Given the description of an element on the screen output the (x, y) to click on. 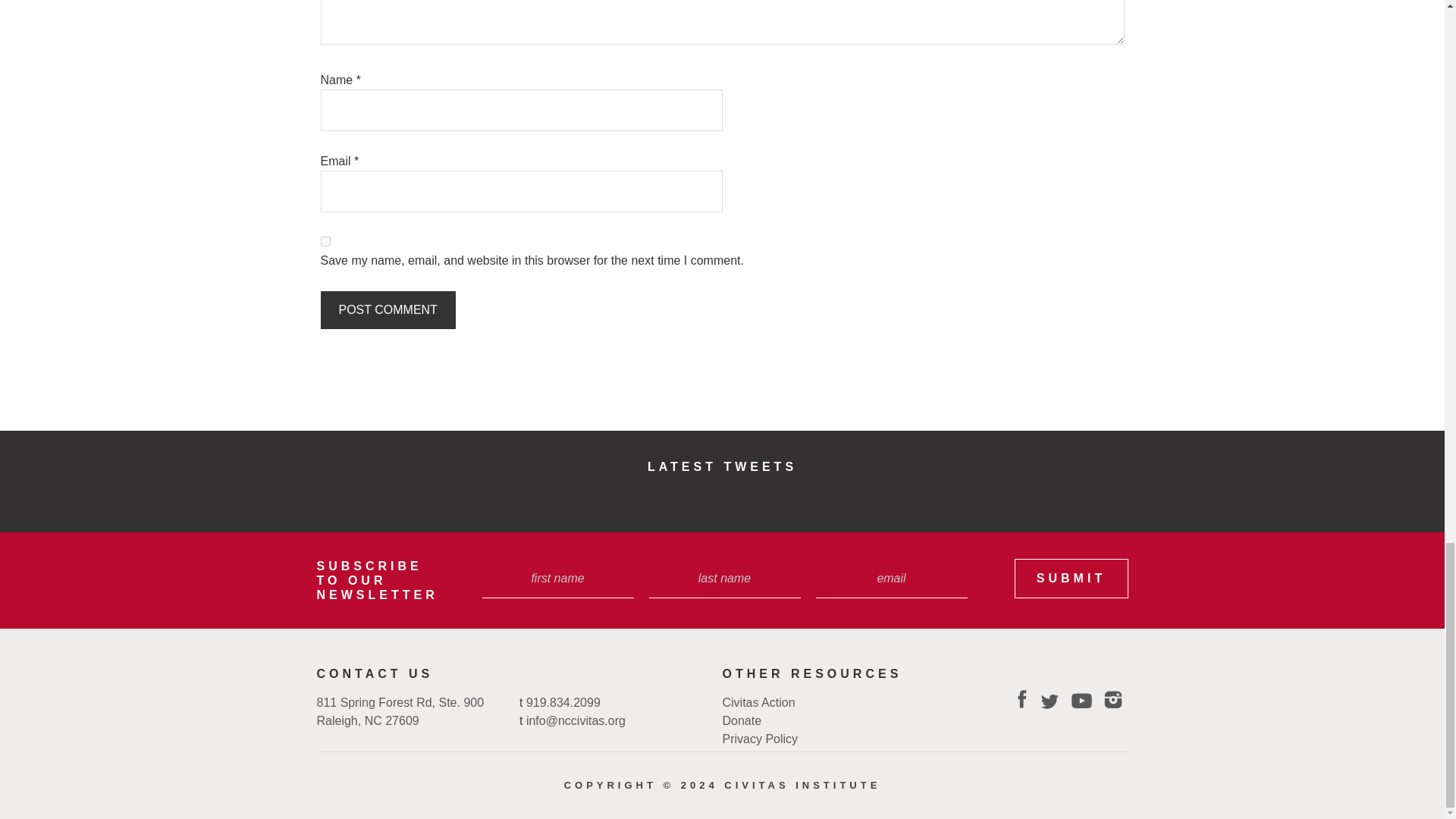
yes (325, 241)
Post Comment (387, 310)
